Given the description of an element on the screen output the (x, y) to click on. 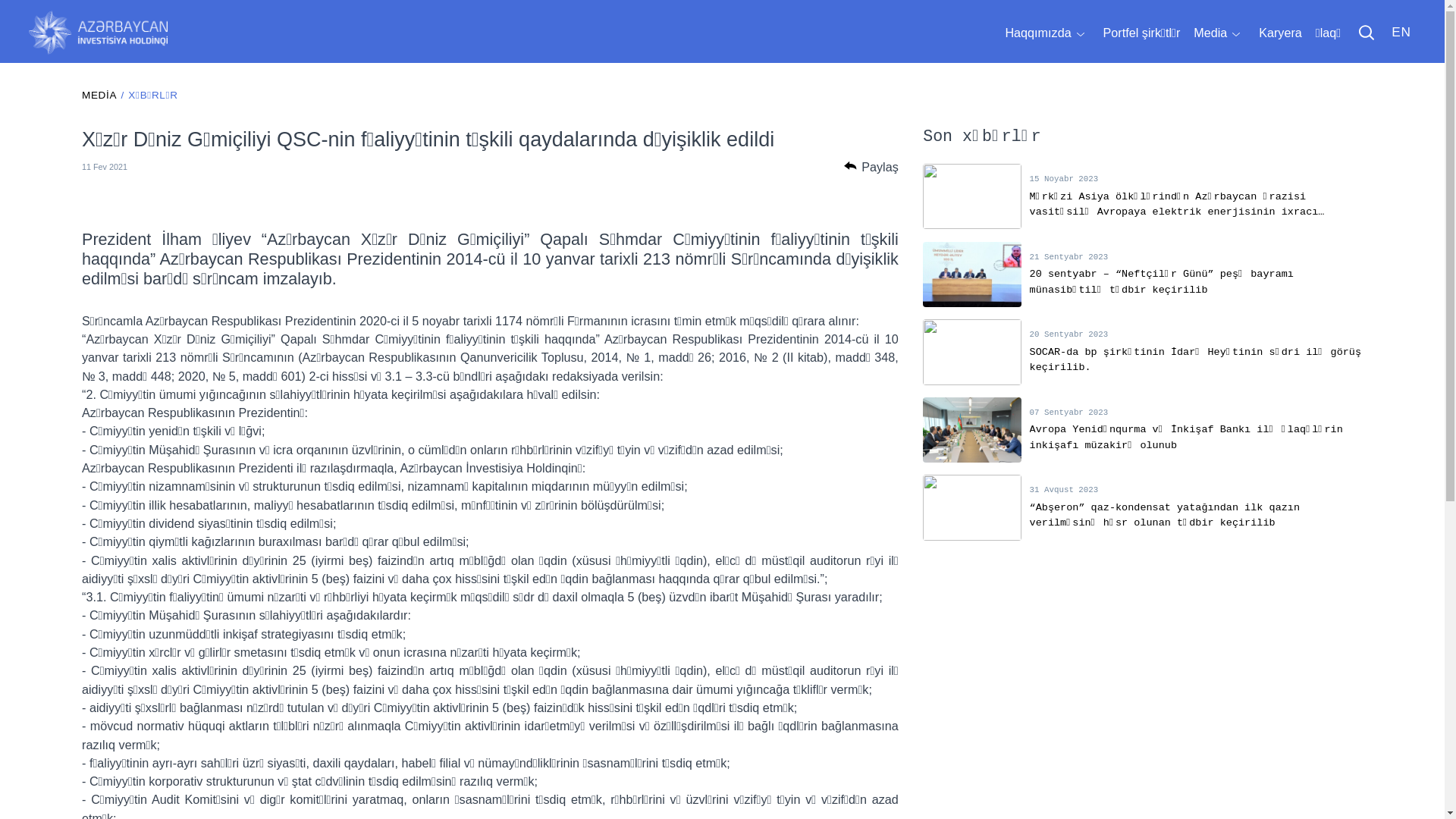
Karyera Element type: text (1280, 32)
EN Element type: text (1399, 32)
MEDIA Element type: text (98, 95)
